Given the description of an element on the screen output the (x, y) to click on. 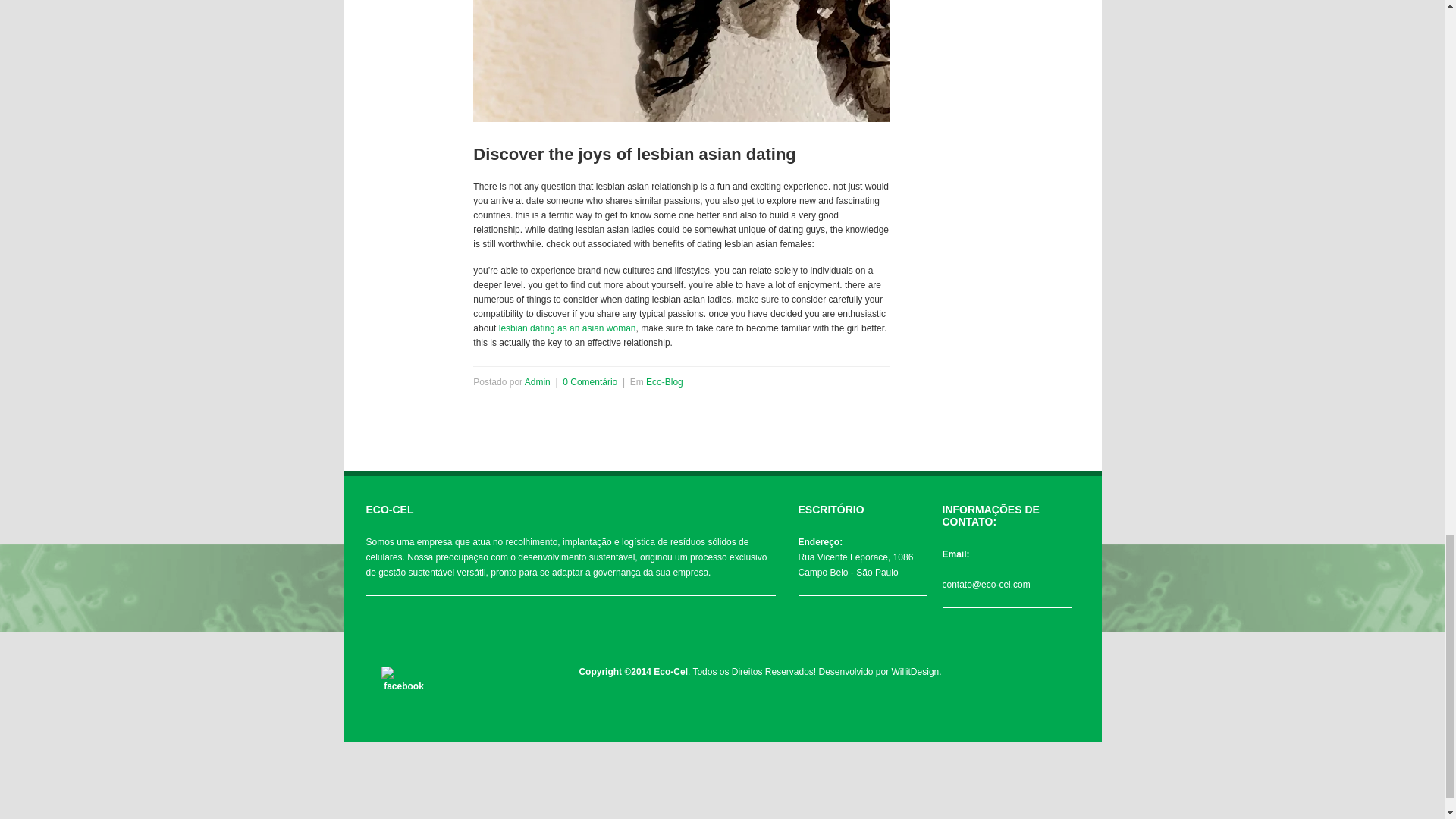
Eco-Blog (664, 381)
Ver todos os posts em Eco-Blog (664, 381)
WillitDesign (915, 671)
Admin (537, 381)
lesbian dating as an asian woman (567, 327)
